Given the description of an element on the screen output the (x, y) to click on. 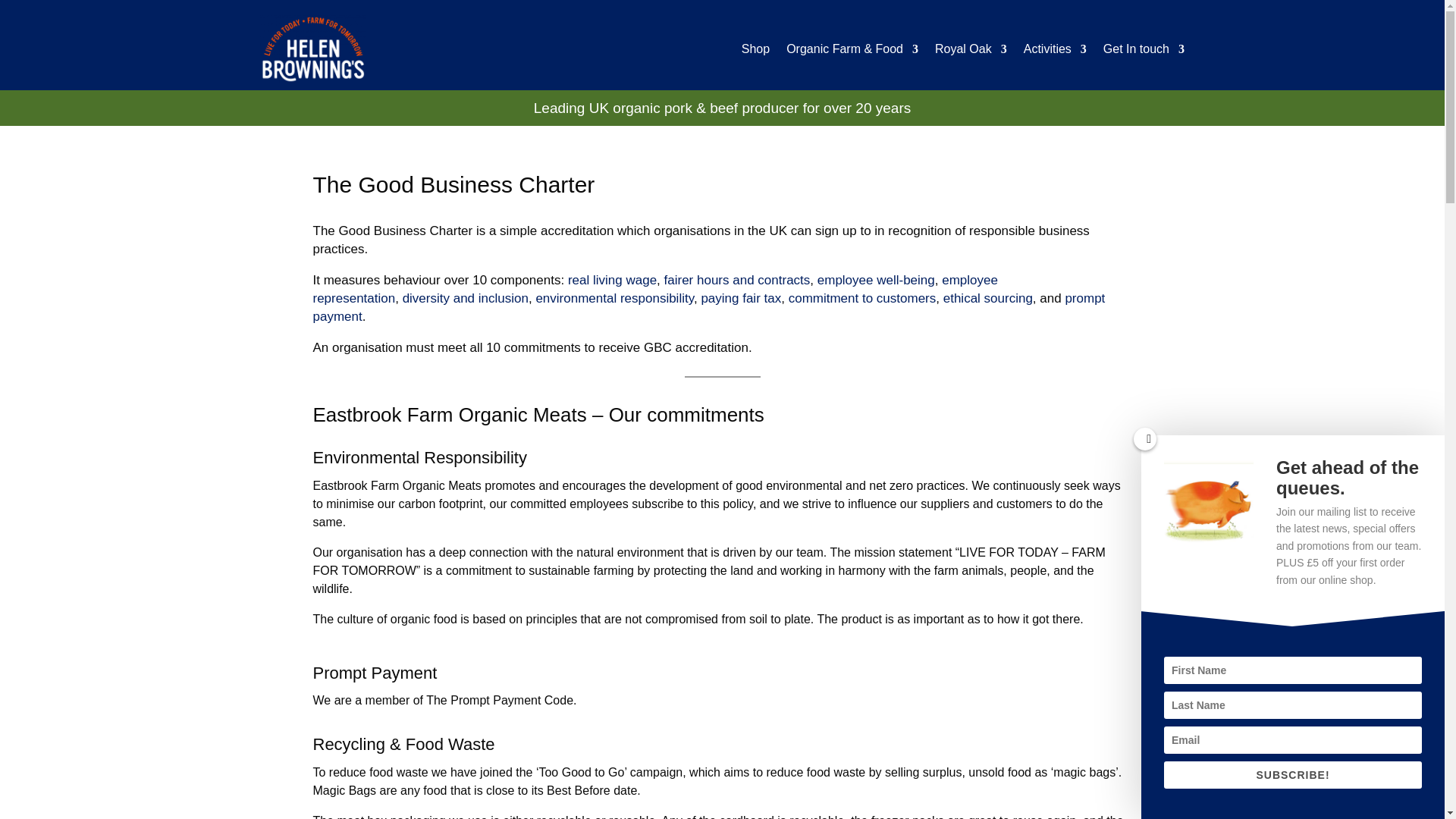
Royal Oak (970, 49)
